Given the description of an element on the screen output the (x, y) to click on. 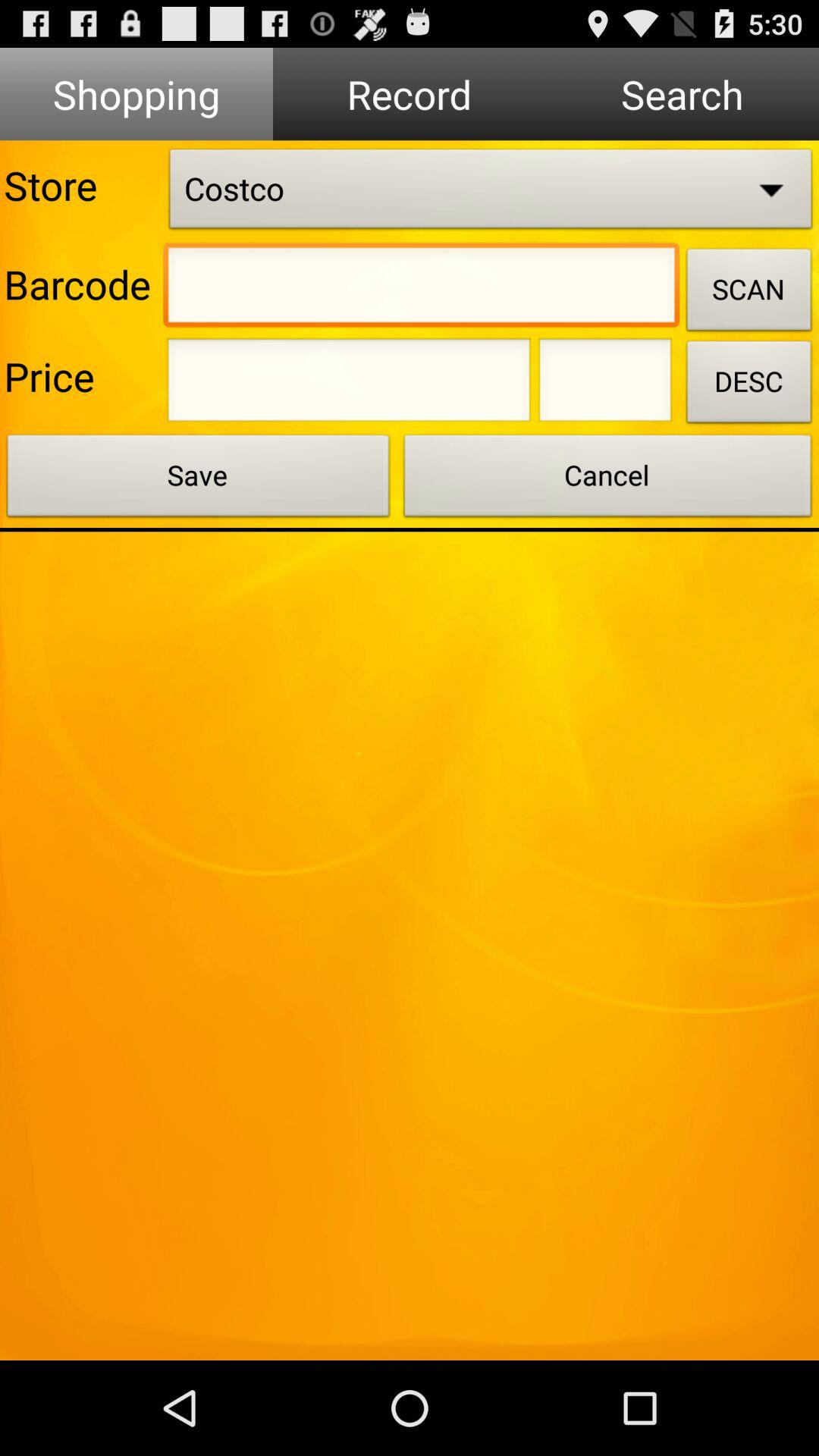
barcode entry (421, 288)
